Given the description of an element on the screen output the (x, y) to click on. 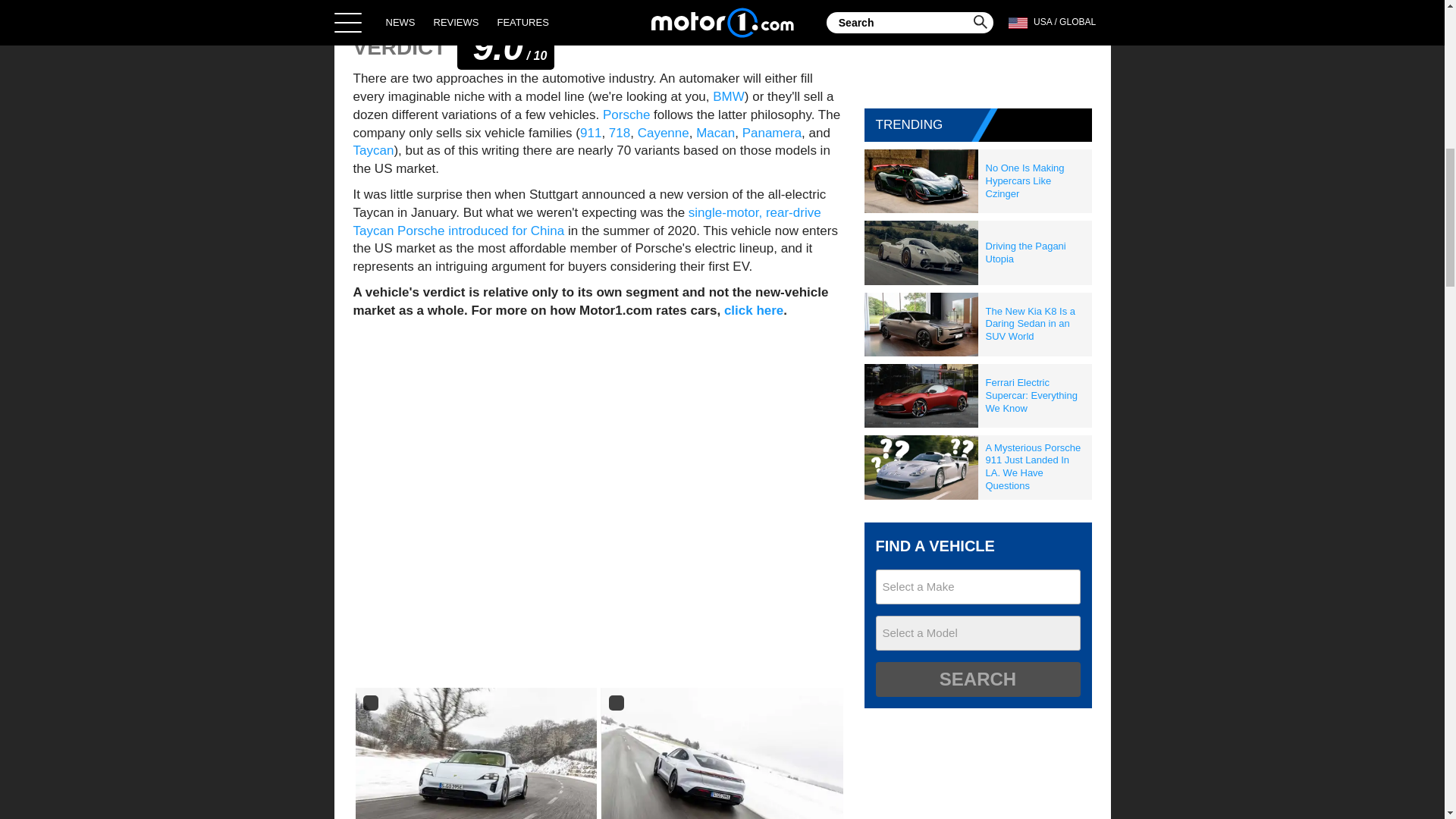
Taycan (373, 150)
Search (977, 678)
Porsche (625, 114)
718 (619, 133)
Cayenne (662, 133)
click here (753, 310)
single-motor, rear-drive Taycan Porsche introduced for China (587, 221)
911 (590, 133)
Panamera (772, 133)
Macan (715, 133)
